Given the description of an element on the screen output the (x, y) to click on. 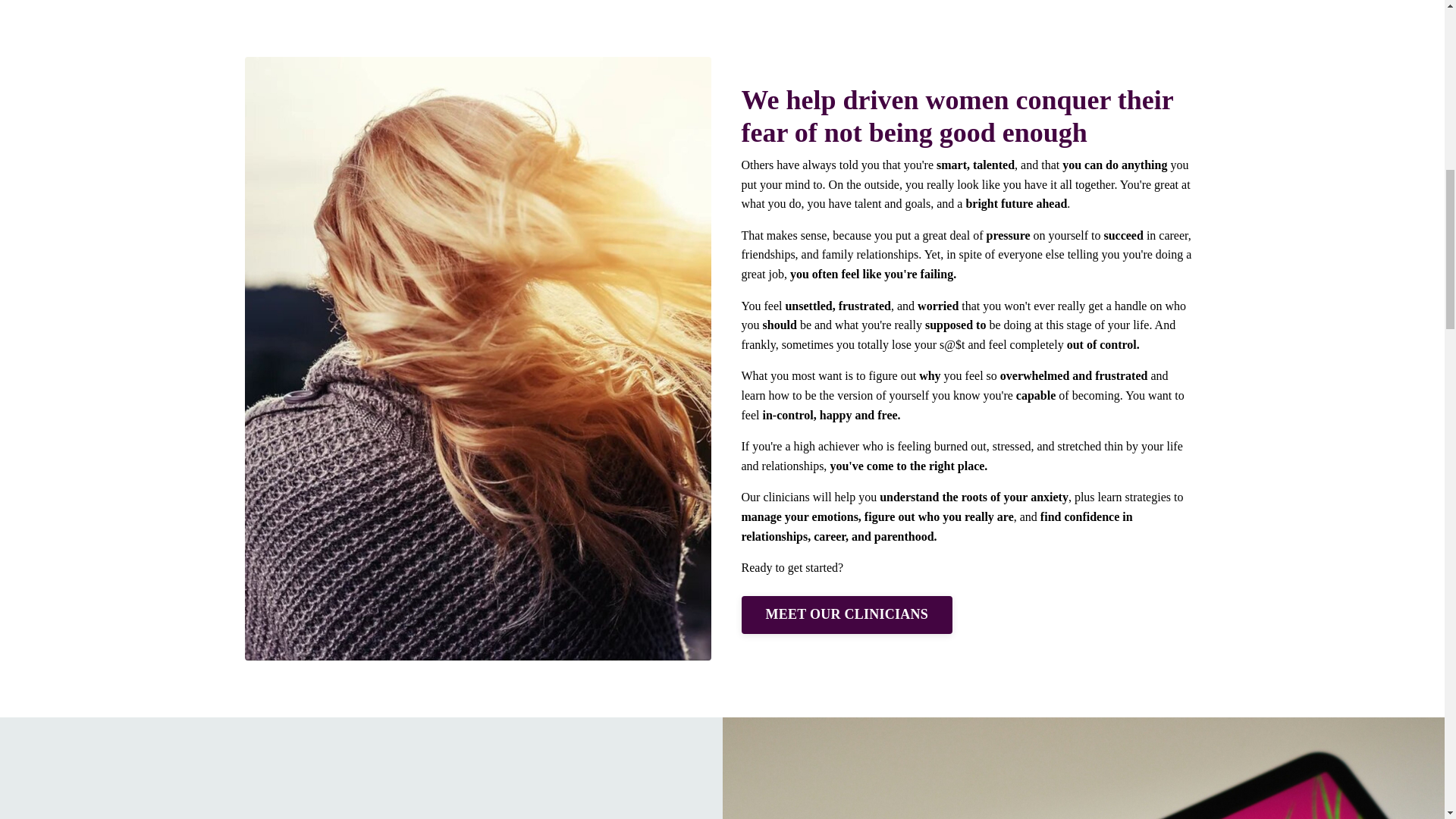
MEET OUR CLINICIANS (846, 614)
